Given the description of an element on the screen output the (x, y) to click on. 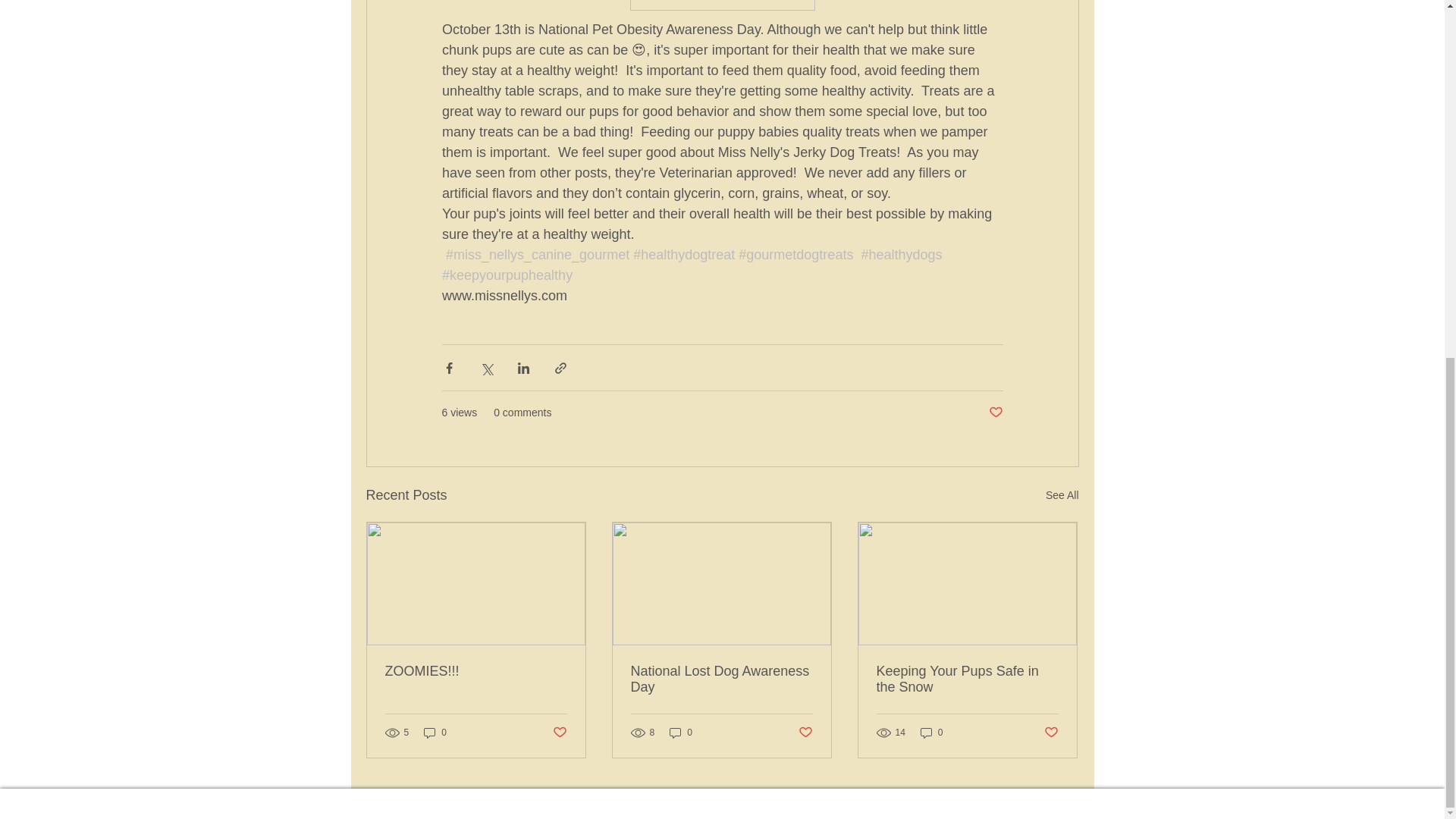
See All (1061, 495)
0 (435, 732)
ZOOMIES!!! (476, 671)
Post not marked as liked (558, 732)
Post not marked as liked (995, 412)
